Given the description of an element on the screen output the (x, y) to click on. 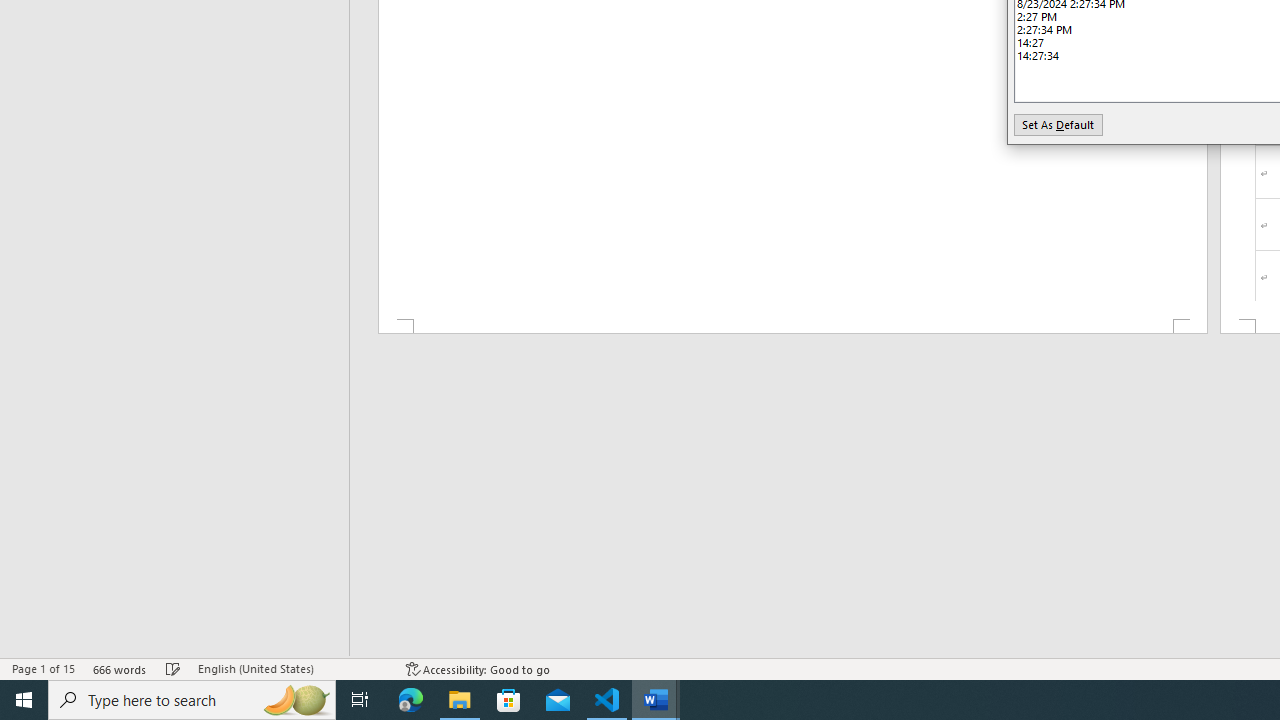
Footer -Section 1- (792, 326)
Search highlights icon opens search home window (295, 699)
Spelling and Grammar Check Checking (173, 668)
Start (24, 699)
Page Number Page 1 of 15 (43, 668)
Task View (359, 699)
Accessibility Checker Accessibility: Good to go (478, 668)
Word - 2 running windows (656, 699)
Visual Studio Code - 1 running window (607, 699)
Word Count 666 words (119, 668)
Type here to search (191, 699)
Microsoft Store (509, 699)
Microsoft Edge (411, 699)
